Given the description of an element on the screen output the (x, y) to click on. 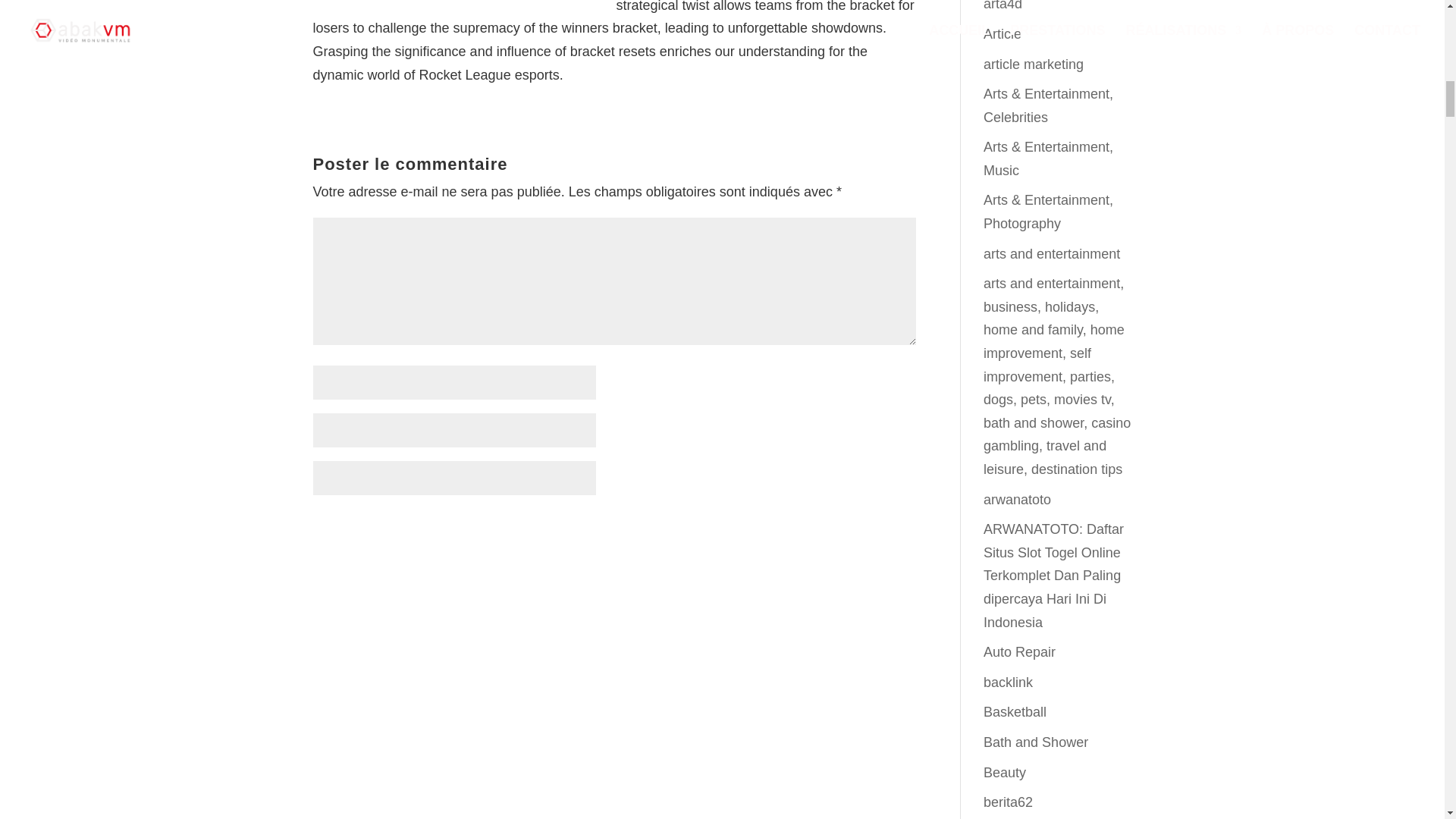
Poster le commentaire (822, 527)
Poster le commentaire (822, 527)
